Given the description of an element on the screen output the (x, y) to click on. 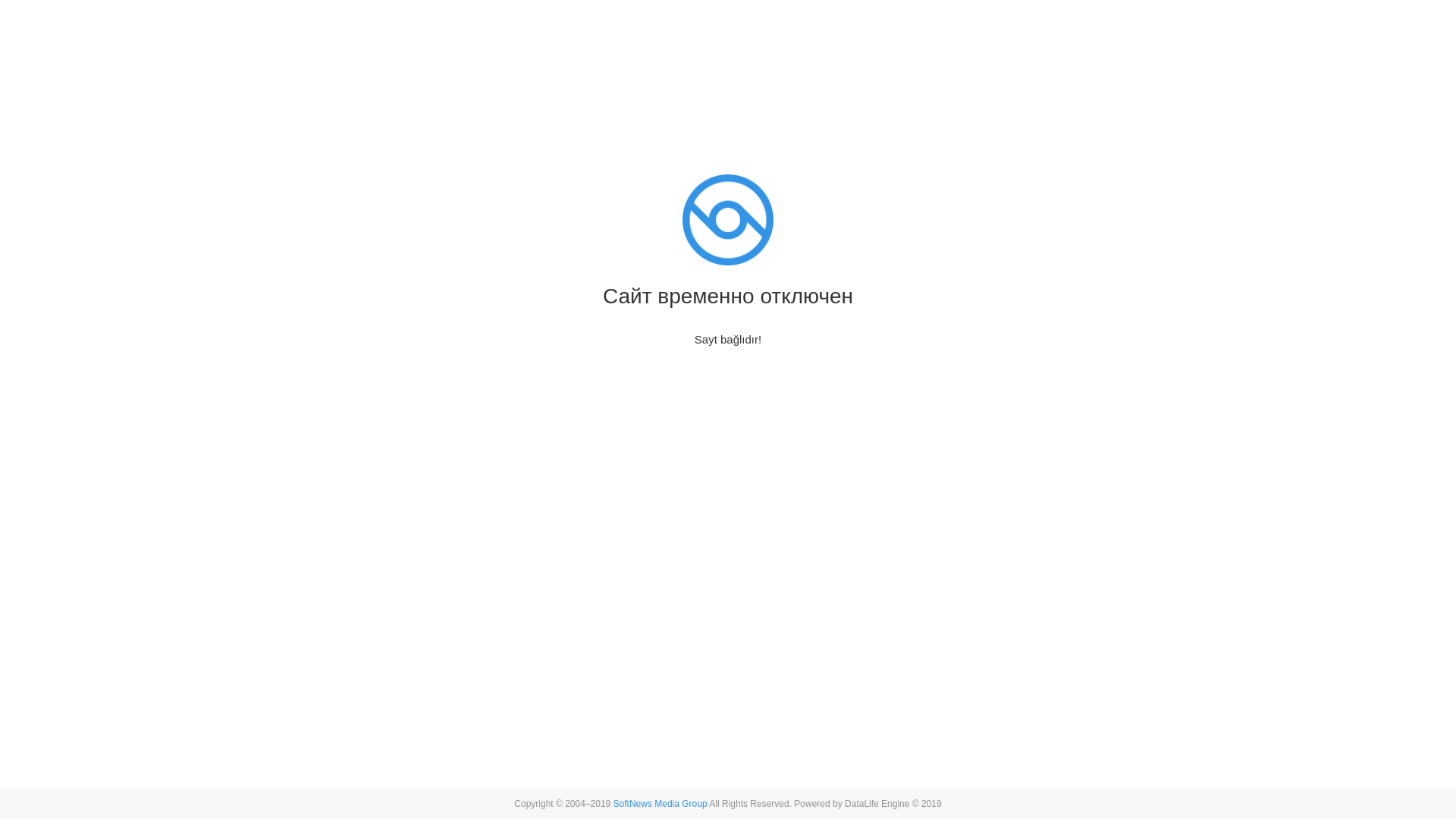
SoftNews Media Group Element type: text (660, 803)
